Given the description of an element on the screen output the (x, y) to click on. 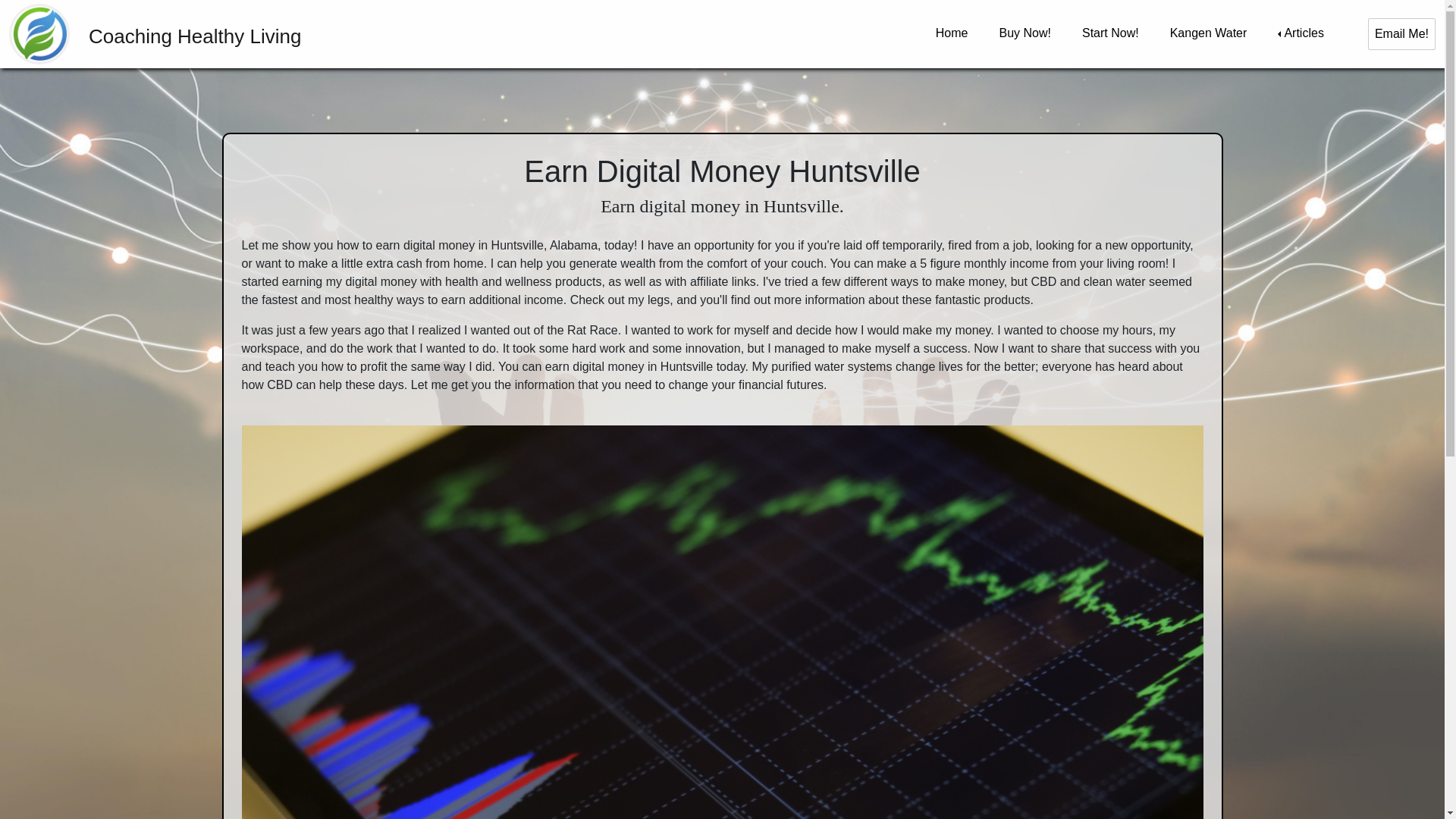
Buy Now! (1024, 33)
Email Me! (1401, 33)
Start Now! (1109, 33)
Coaching Healthy Living (114, 33)
Home (952, 33)
Kangen Water (1208, 33)
Articles (1300, 33)
